Given the description of an element on the screen output the (x, y) to click on. 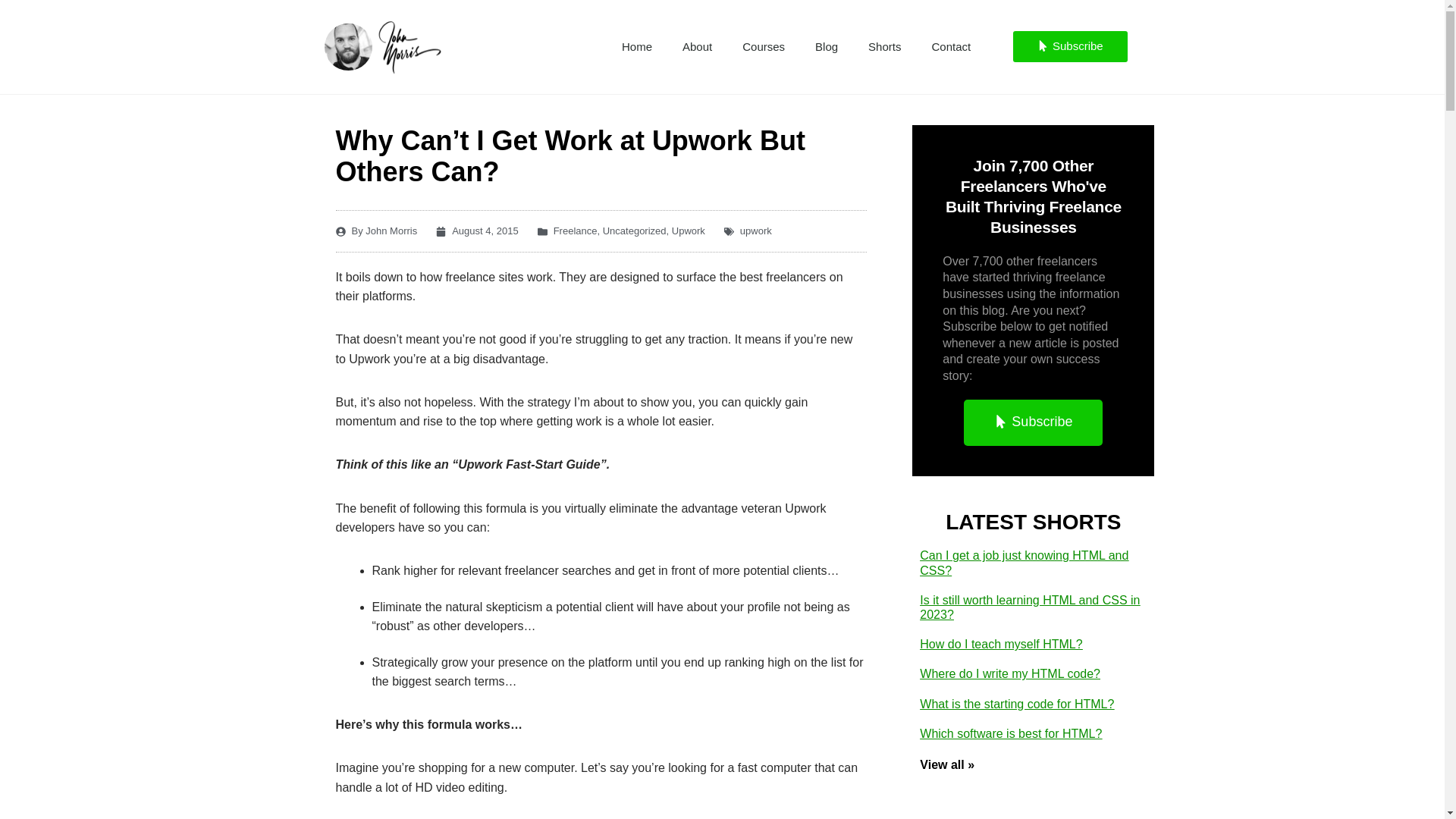
Uncategorized (634, 230)
upwork (755, 230)
August 4, 2015 (476, 230)
Upwork (687, 230)
Subscribe (1069, 46)
Freelance (574, 230)
Contact (950, 47)
By John Morris (375, 230)
Courses (762, 47)
